Given the description of an element on the screen output the (x, y) to click on. 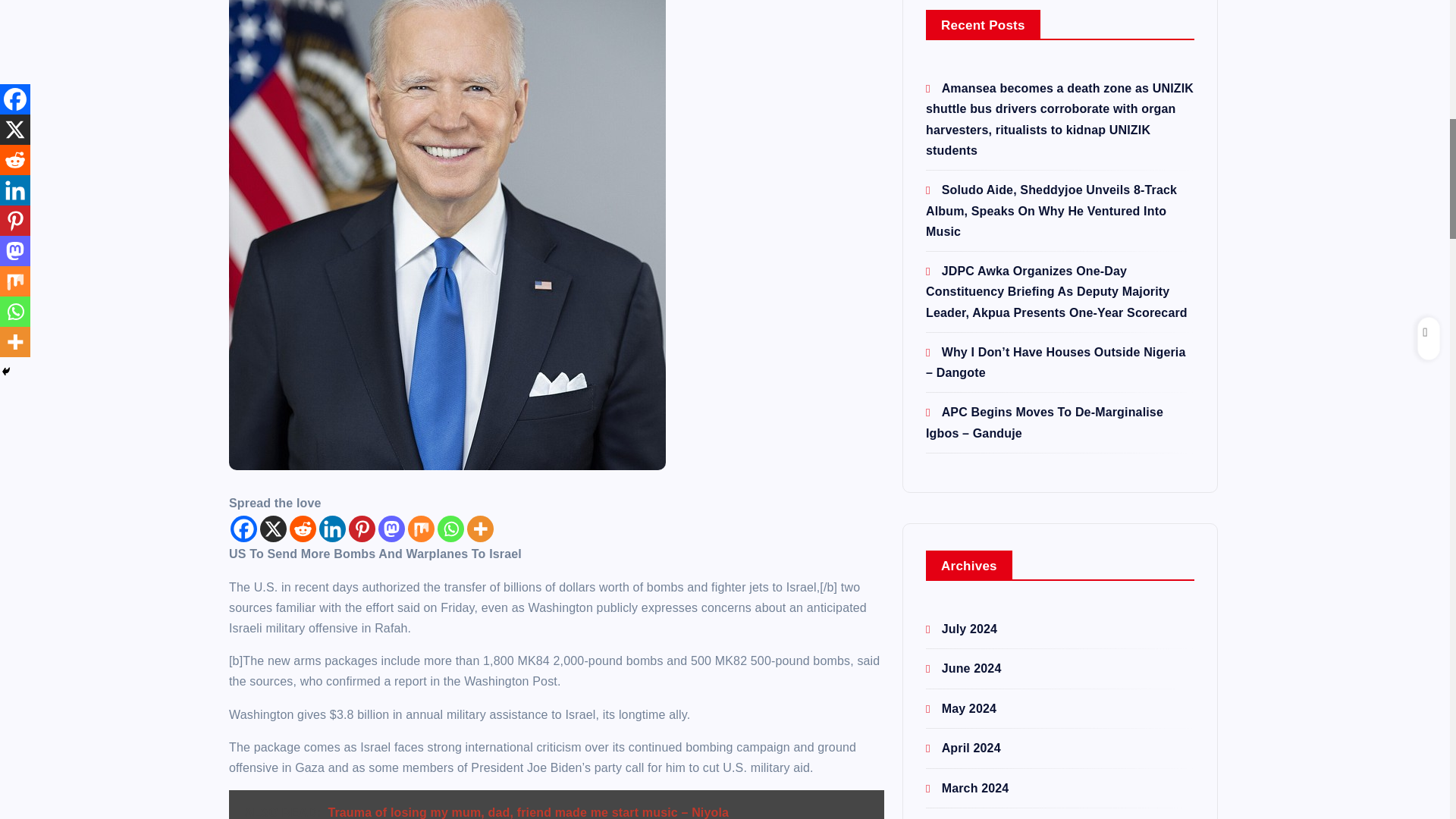
Pinterest (362, 528)
Facebook (243, 528)
Linkedin (332, 528)
Reddit (302, 528)
X (273, 528)
